Given the description of an element on the screen output the (x, y) to click on. 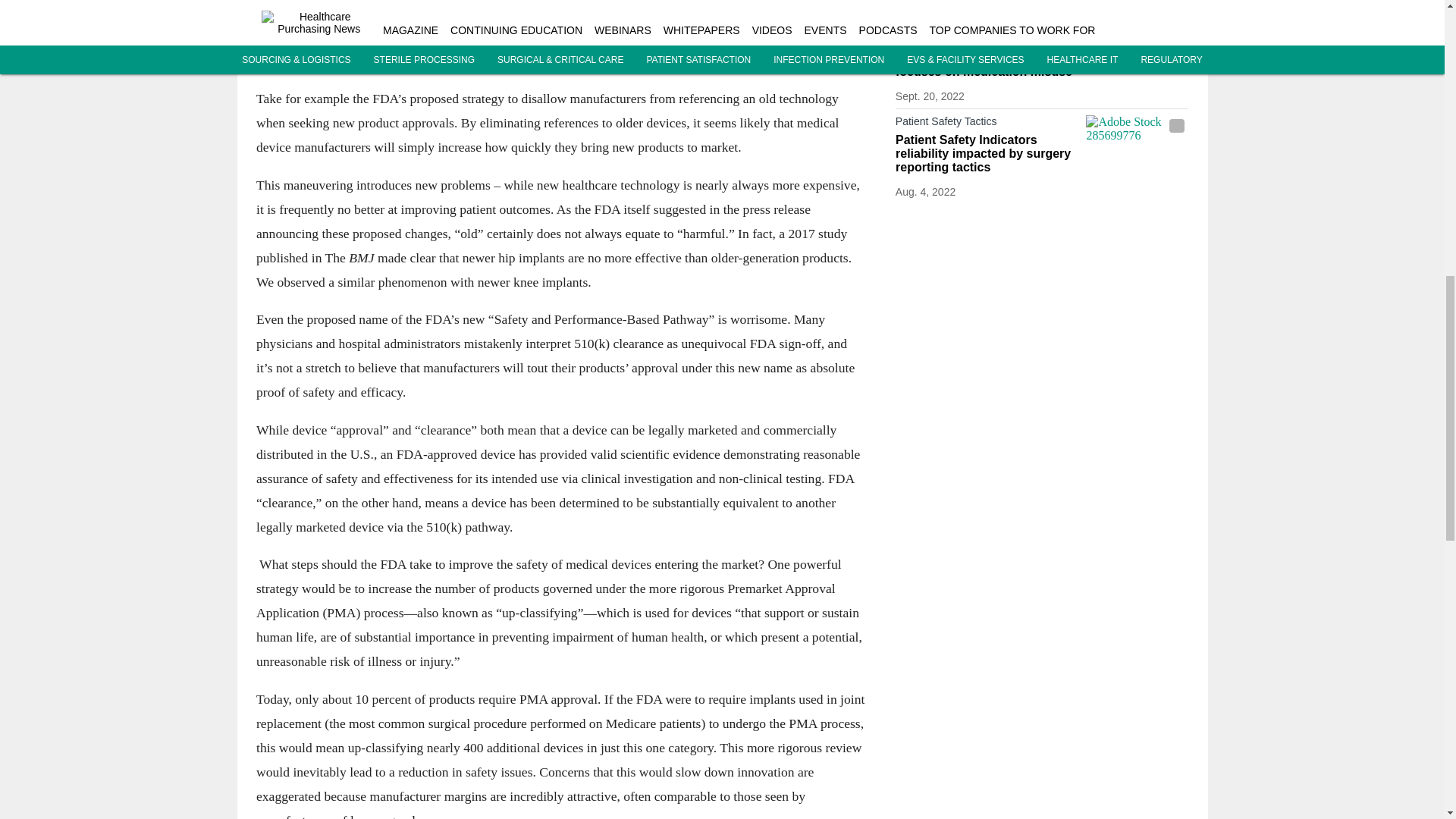
Adobe Stock 285699776 (1137, 143)
Patient Safety Tactics (986, 42)
World Patient Safety Day focuses on medication misuse (986, 64)
